Given the description of an element on the screen output the (x, y) to click on. 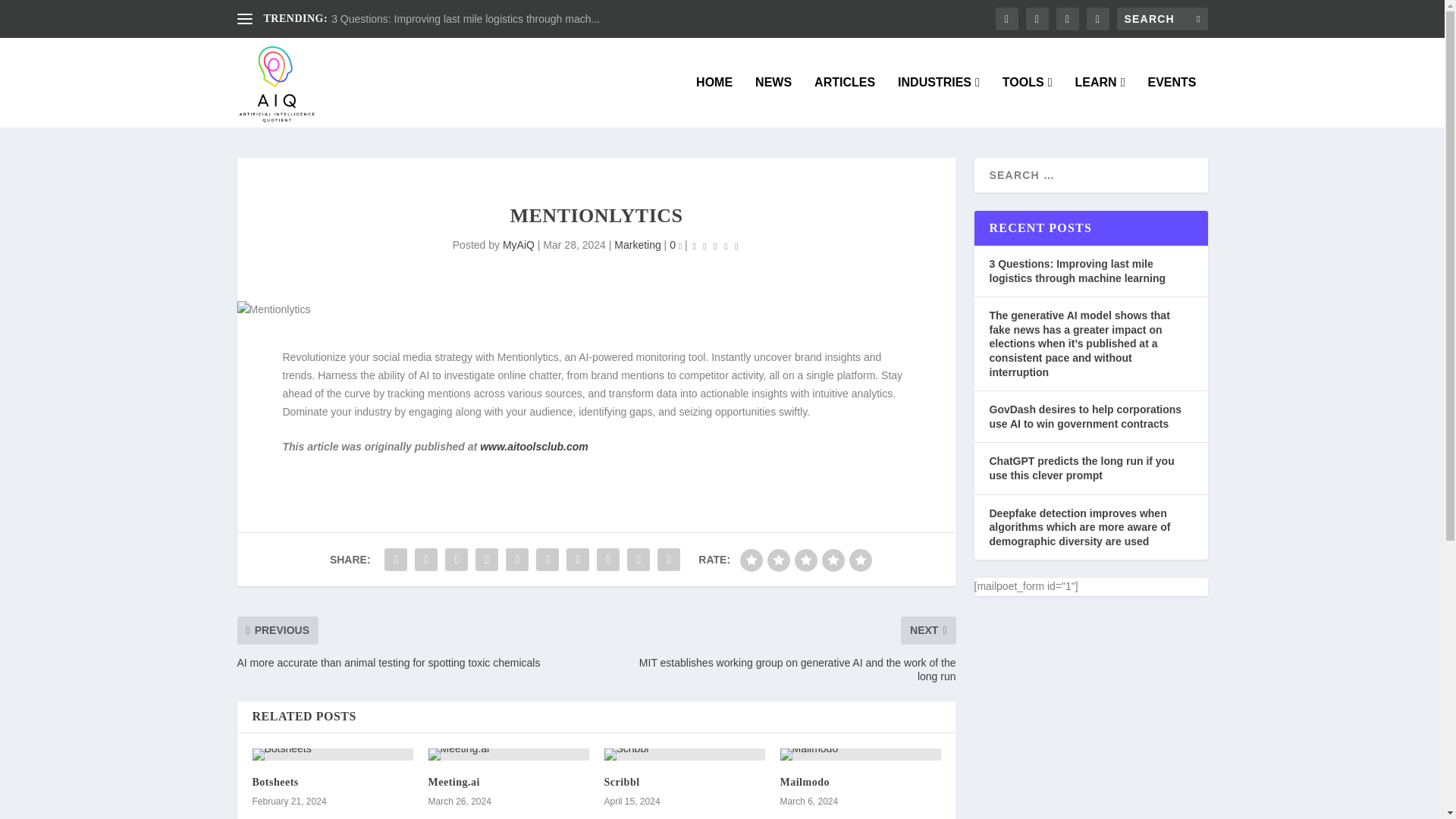
Share "Mentionlytics" via Twitter (425, 559)
TOOLS (1027, 101)
Share "Mentionlytics" via Facebook (395, 559)
3 Questions: Improving last mile logistics through mach... (465, 19)
Rating: 0.00 (715, 245)
EVENTS (1171, 101)
Share "Mentionlytics" via Tumblr (486, 559)
Search for: (1161, 18)
Posts by MyAiQ (518, 244)
Share "Mentionlytics" via Pinterest (517, 559)
